Given the description of an element on the screen output the (x, y) to click on. 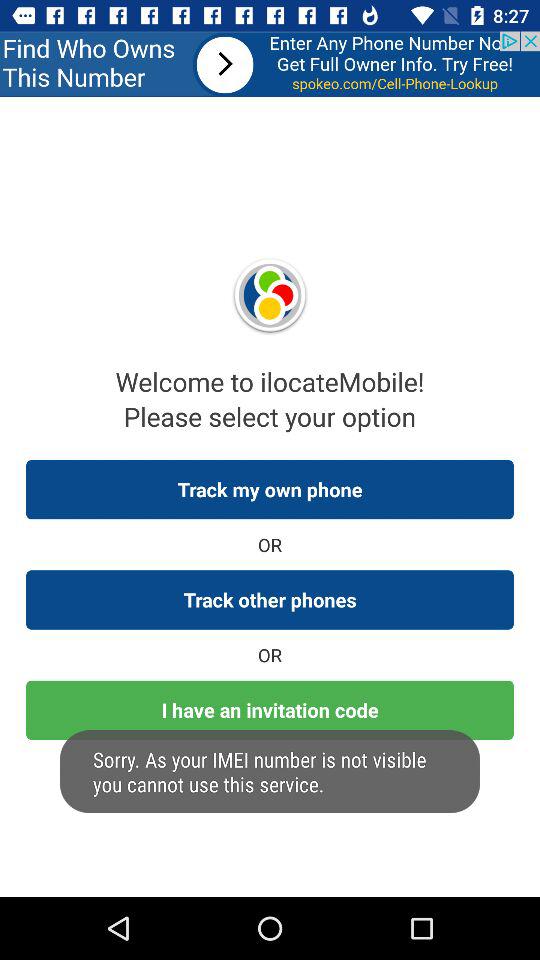
go to advertisement (270, 64)
